Given the description of an element on the screen output the (x, y) to click on. 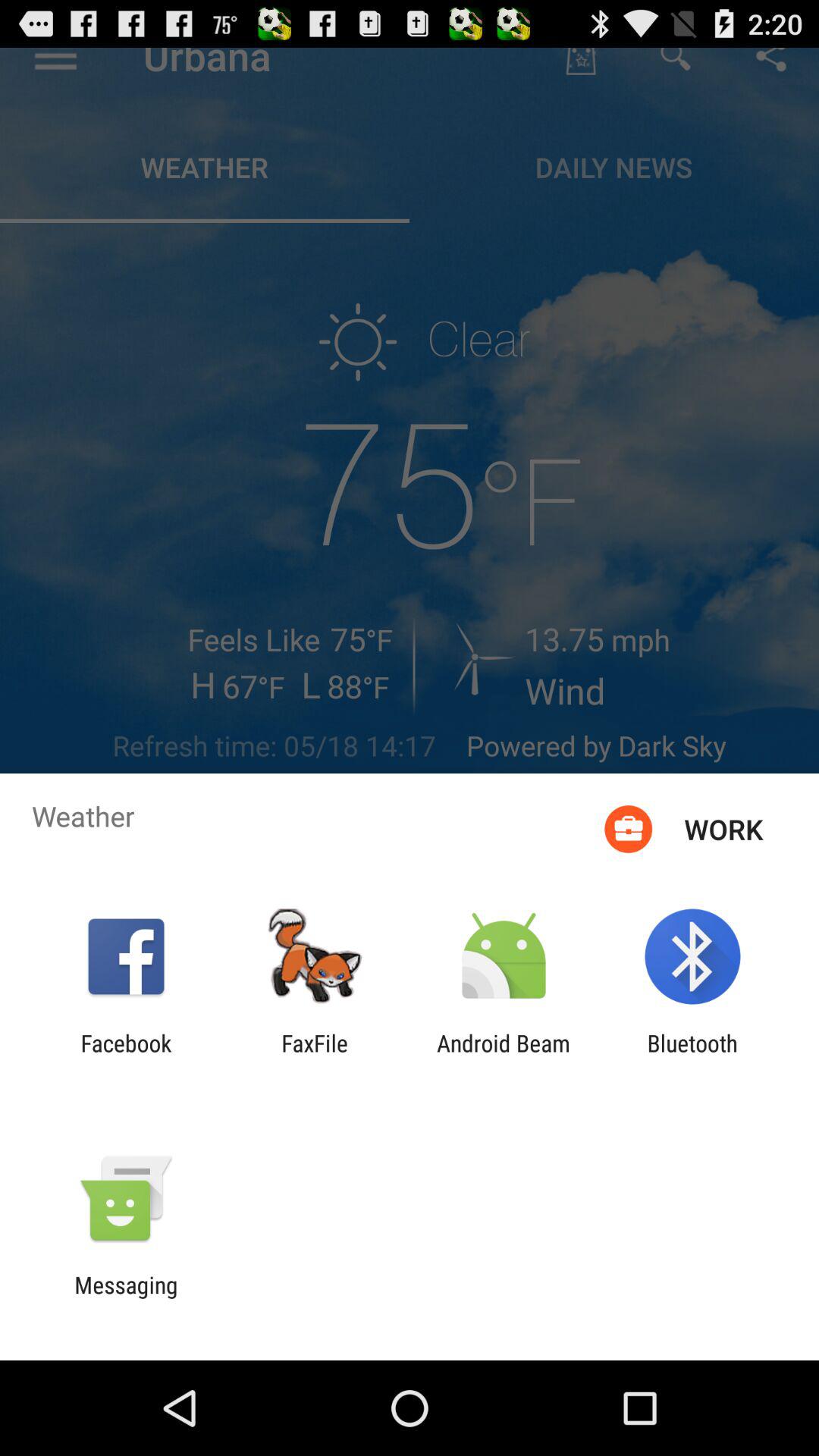
flip to messaging icon (126, 1298)
